Given the description of an element on the screen output the (x, y) to click on. 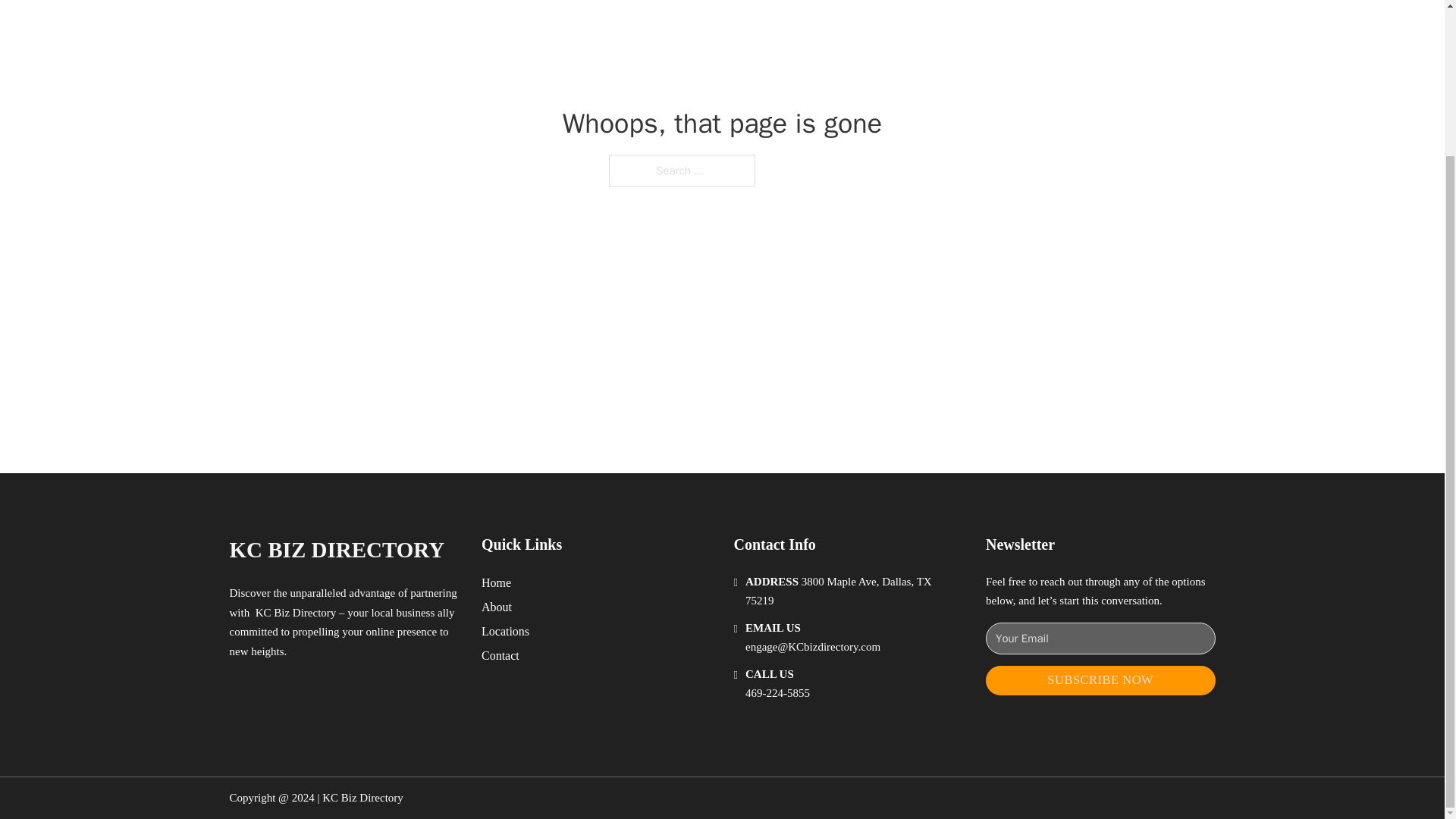
469-224-5855 (777, 693)
Locations (505, 630)
SUBSCRIBE NOW (1100, 680)
About (496, 607)
KC BIZ DIRECTORY (336, 549)
Home (496, 582)
Contact (500, 655)
